Given the description of an element on the screen output the (x, y) to click on. 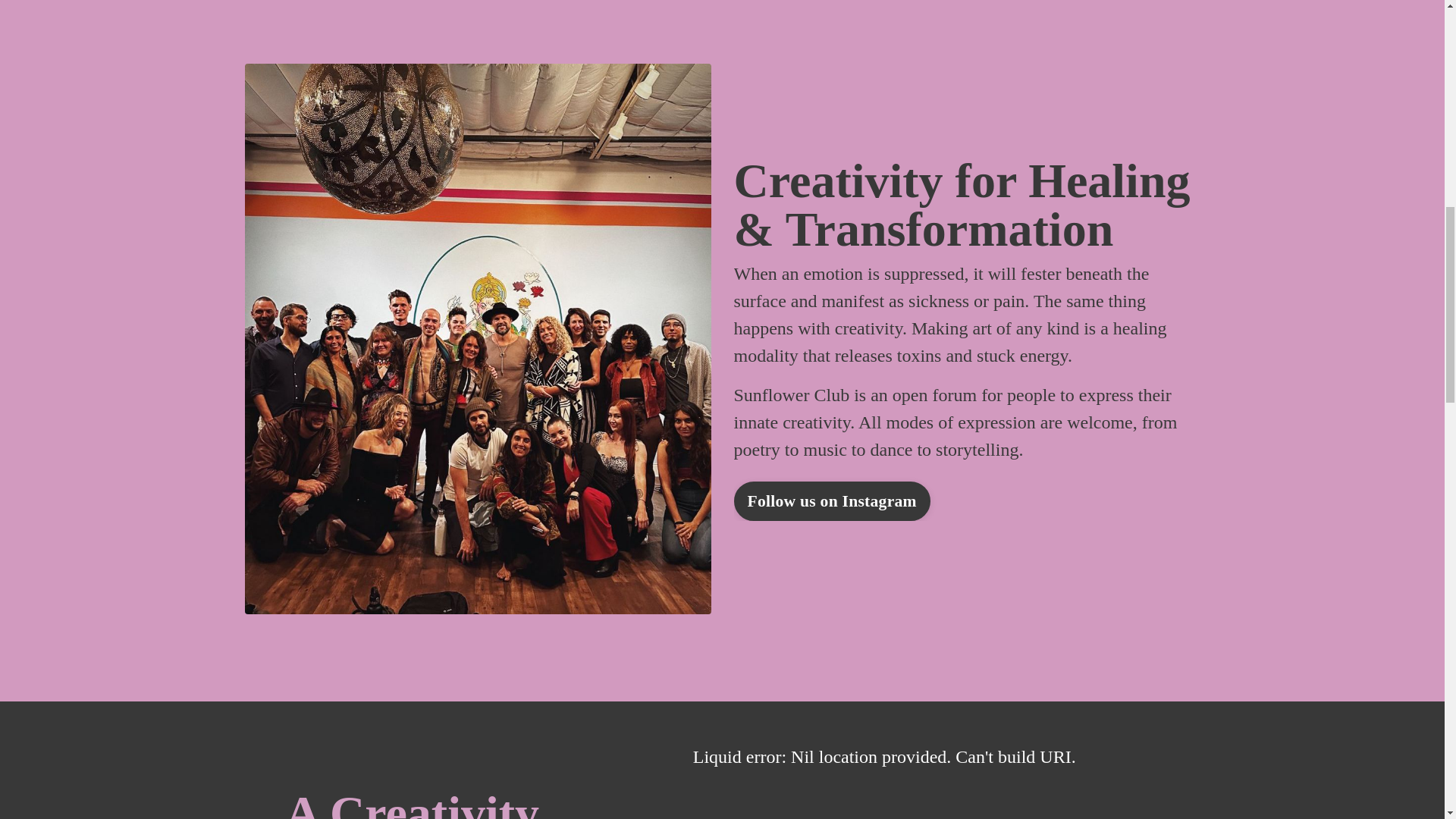
Follow us on Instagram (831, 500)
YouTube video player (925, 780)
